Given the description of an element on the screen output the (x, y) to click on. 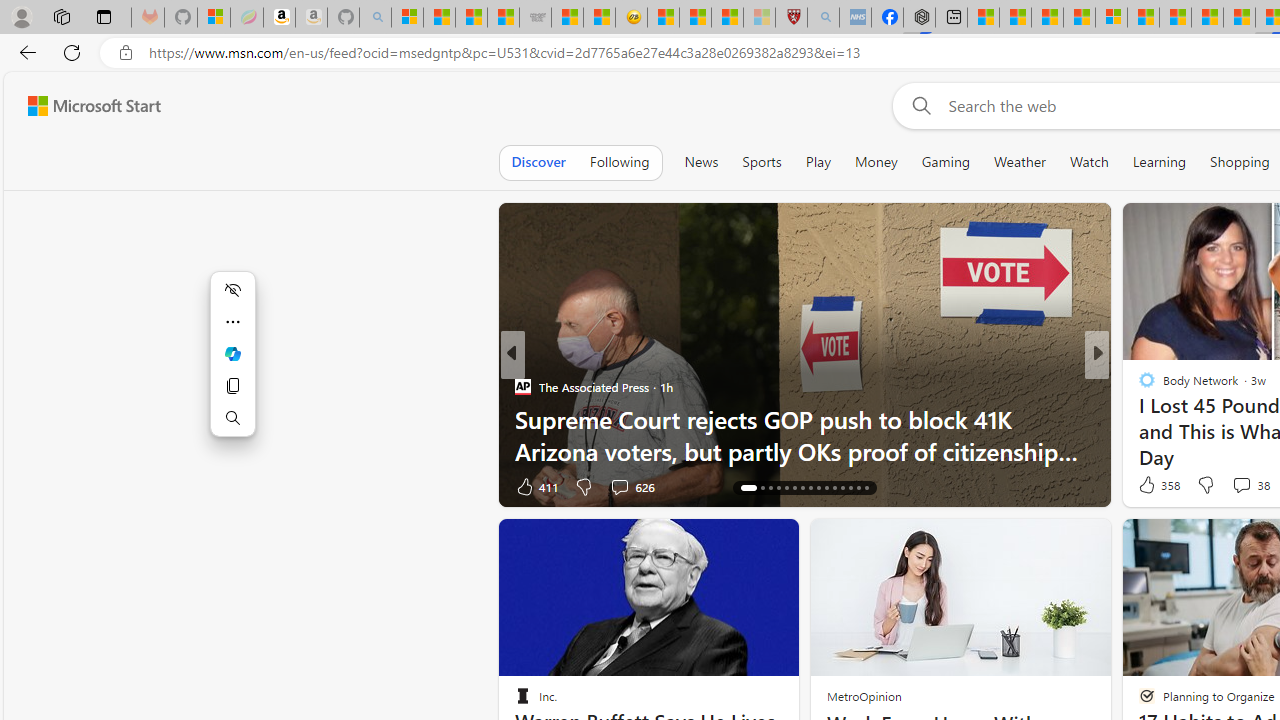
Hide this story (738, 542)
358 Like (1157, 484)
Copy (232, 385)
